Given the description of an element on the screen output the (x, y) to click on. 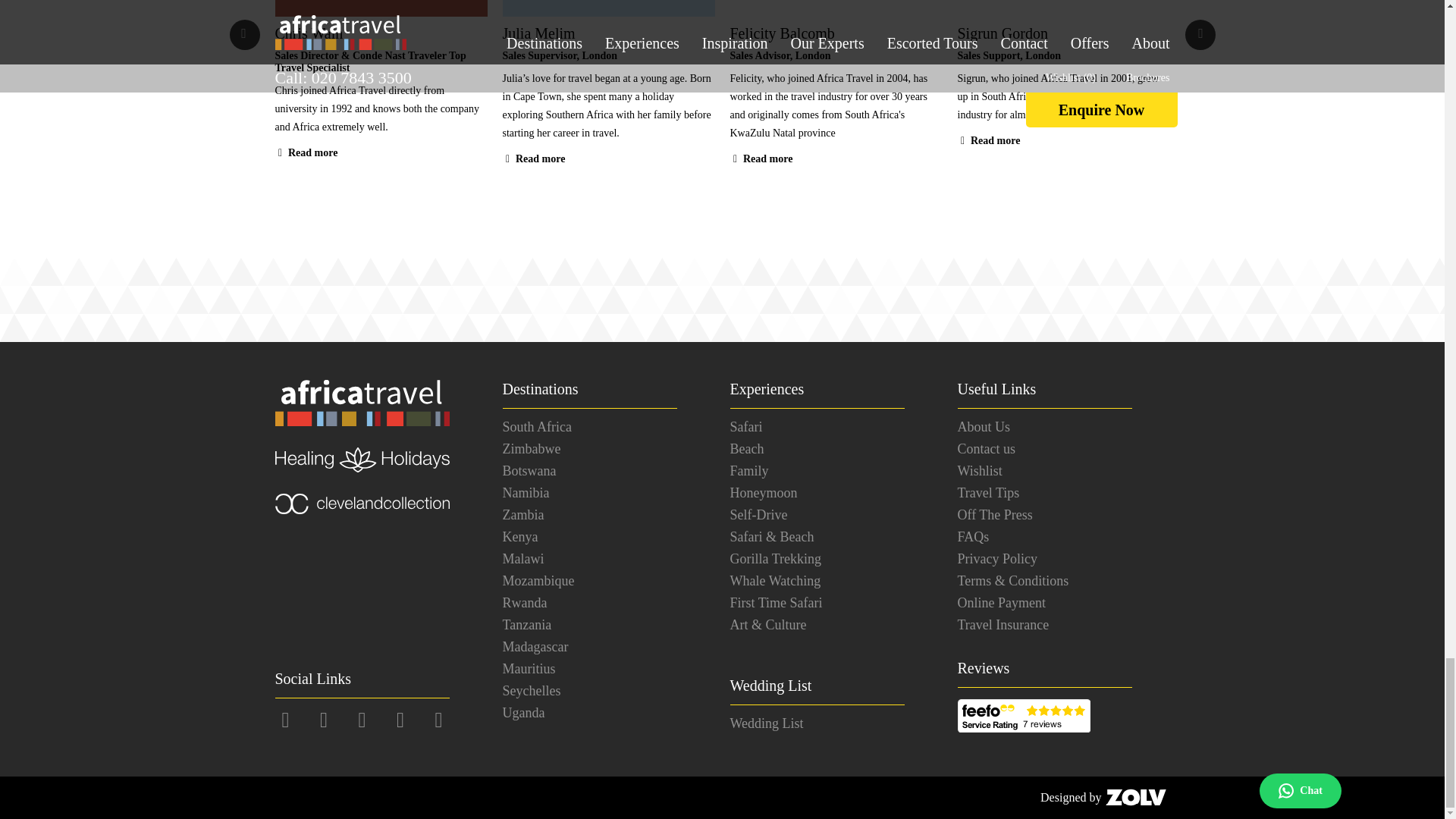
Chris Wain (380, 33)
Sigrun Gordon (1062, 33)
See what our customers say about us (1022, 715)
Read more (988, 140)
Read more (533, 158)
Felicity Balcomb (835, 33)
Read more (306, 152)
Julia Melim (608, 33)
Read more (760, 158)
